Given the description of an element on the screen output the (x, y) to click on. 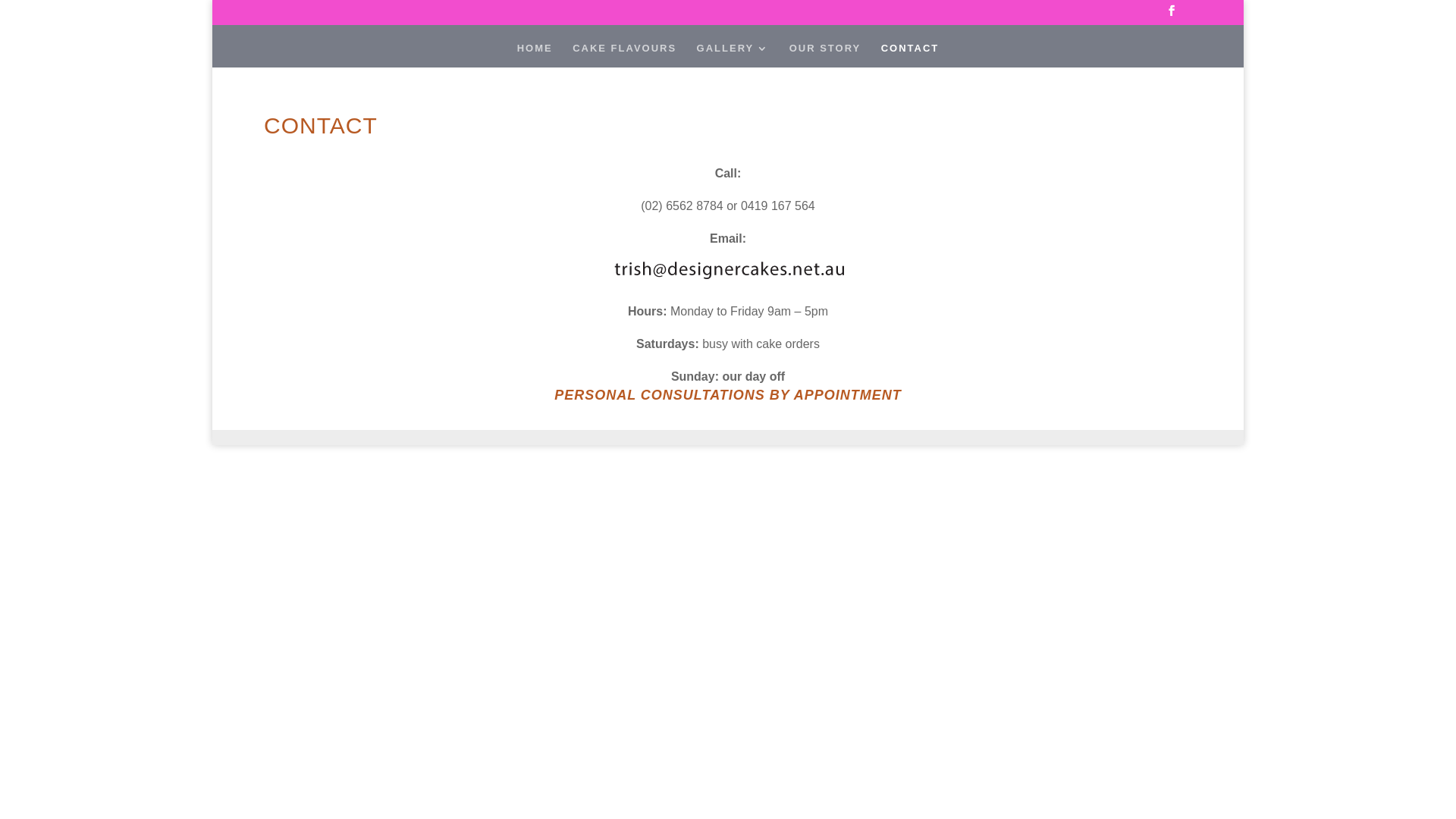
HOME Element type: text (534, 54)
CAKE FLAVOURS Element type: text (624, 54)
CONTACT Element type: text (910, 54)
OUR STORY Element type: text (825, 54)
GALLERY Element type: text (732, 54)
